Given the description of an element on the screen output the (x, y) to click on. 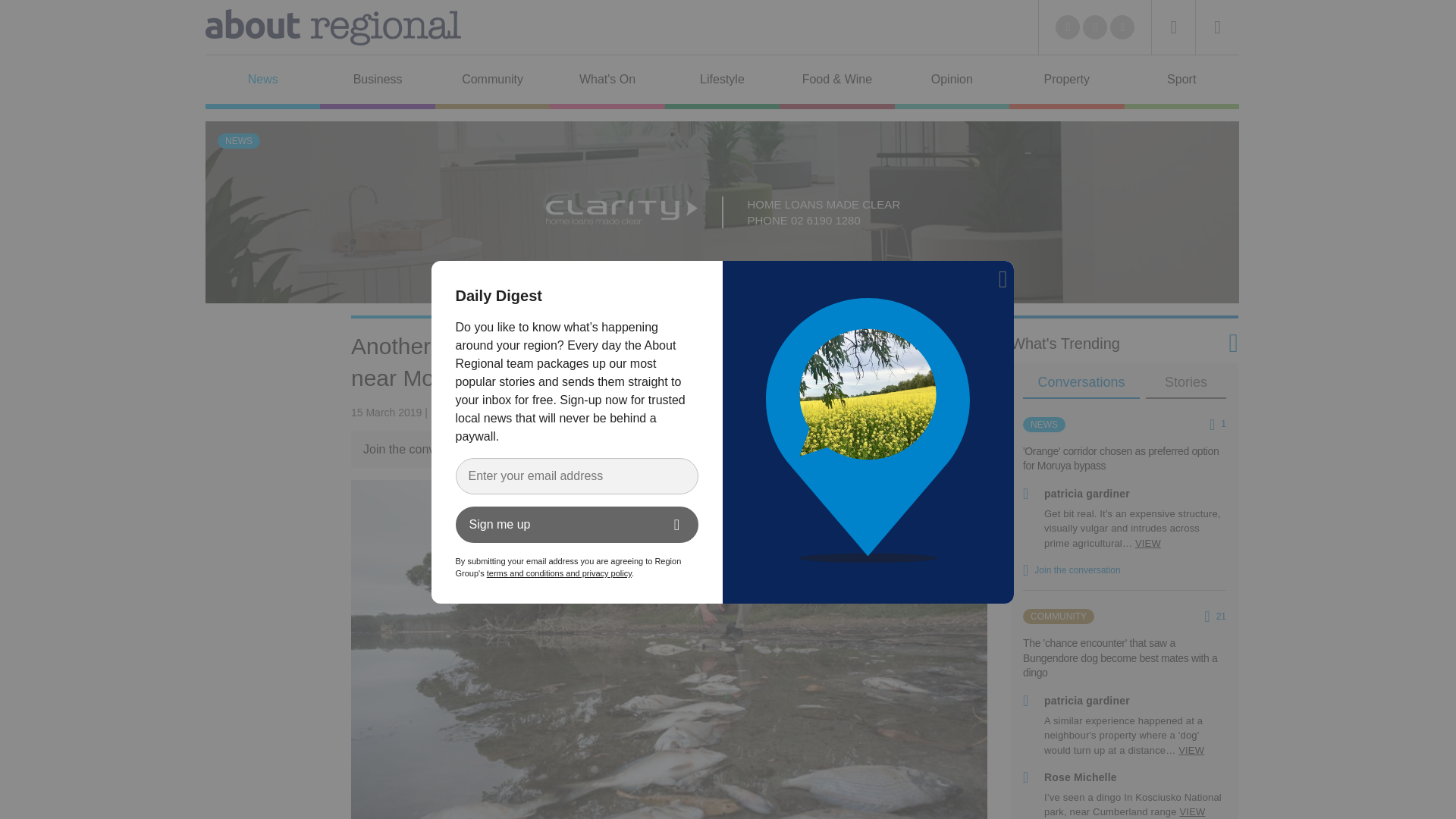
Twitter (1067, 27)
News (262, 81)
Business (376, 81)
Facebook (1094, 27)
Instagram (1121, 27)
About Regional Home (333, 26)
